Given the description of an element on the screen output the (x, y) to click on. 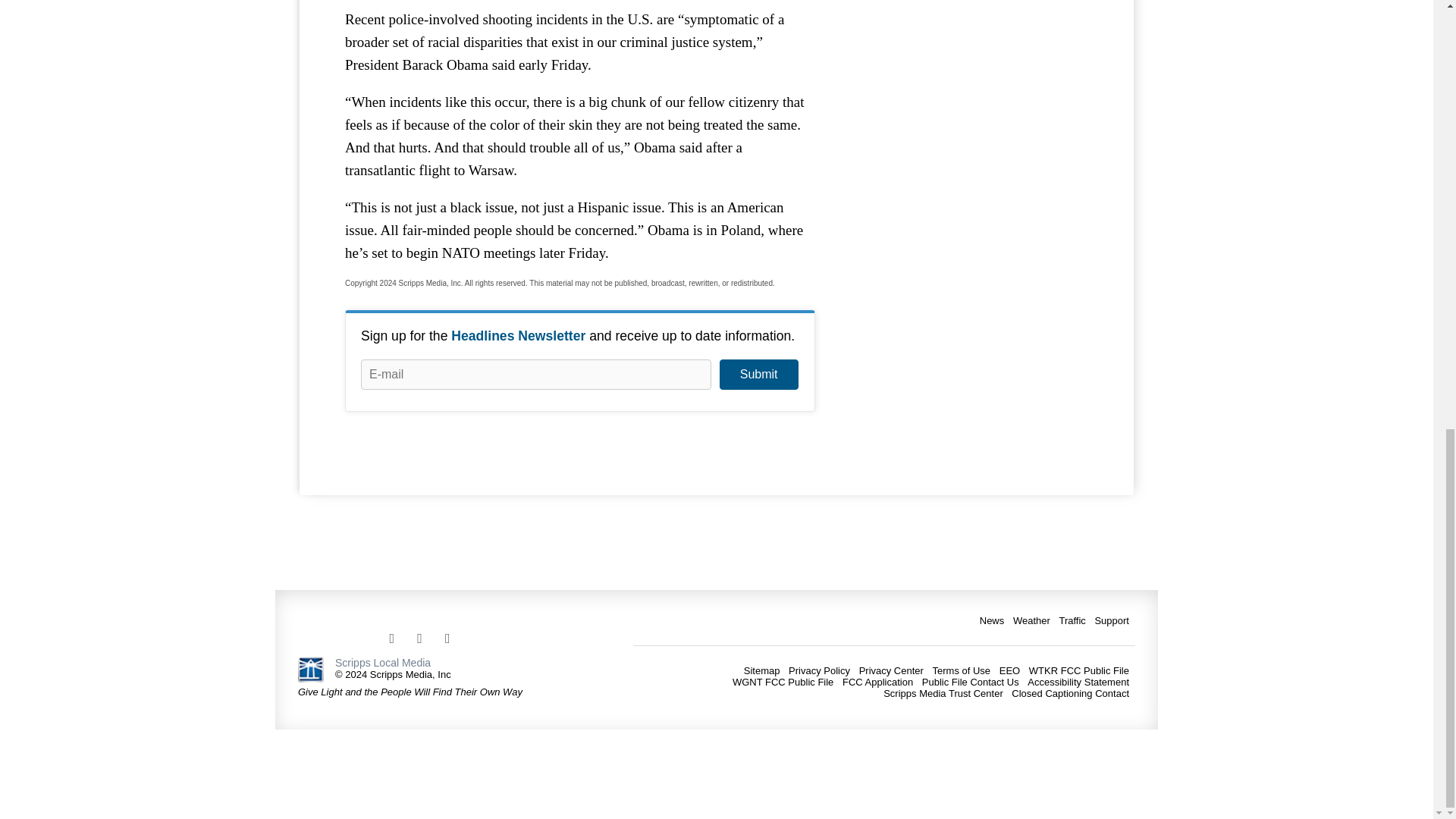
3rd party ad content (973, 62)
Submit (758, 374)
